Given the description of an element on the screen output the (x, y) to click on. 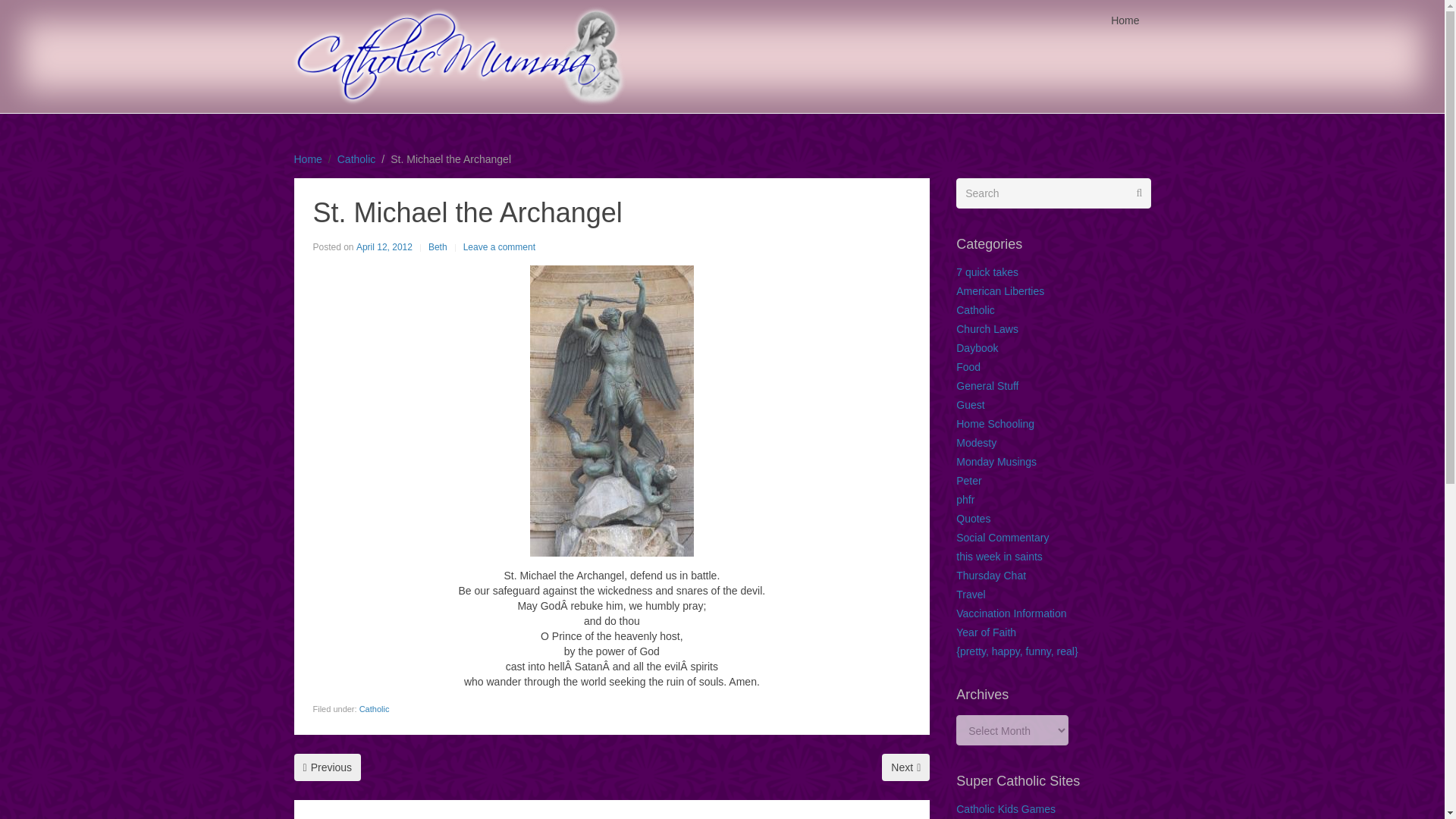
Monday Musings (996, 461)
Peter (968, 480)
phfr (965, 499)
Travel (970, 594)
Beth (437, 246)
Selective Catholicism  (327, 767)
Quotes (973, 518)
this week in saints (999, 556)
Leave a comment (499, 246)
Thursday Chat (991, 575)
Home (307, 159)
Next (906, 767)
Daybook (976, 347)
